Given the description of an element on the screen output the (x, y) to click on. 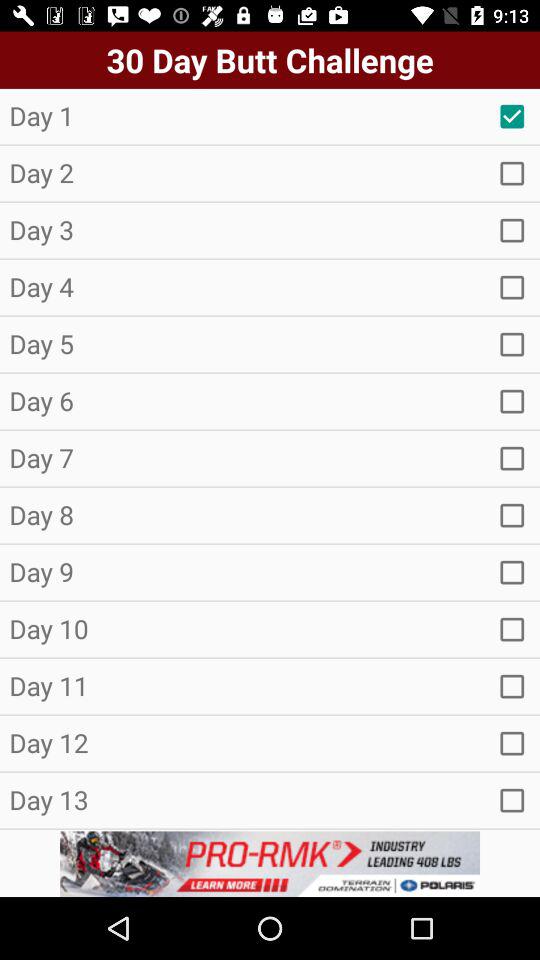
advertisement area (270, 864)
